Given the description of an element on the screen output the (x, y) to click on. 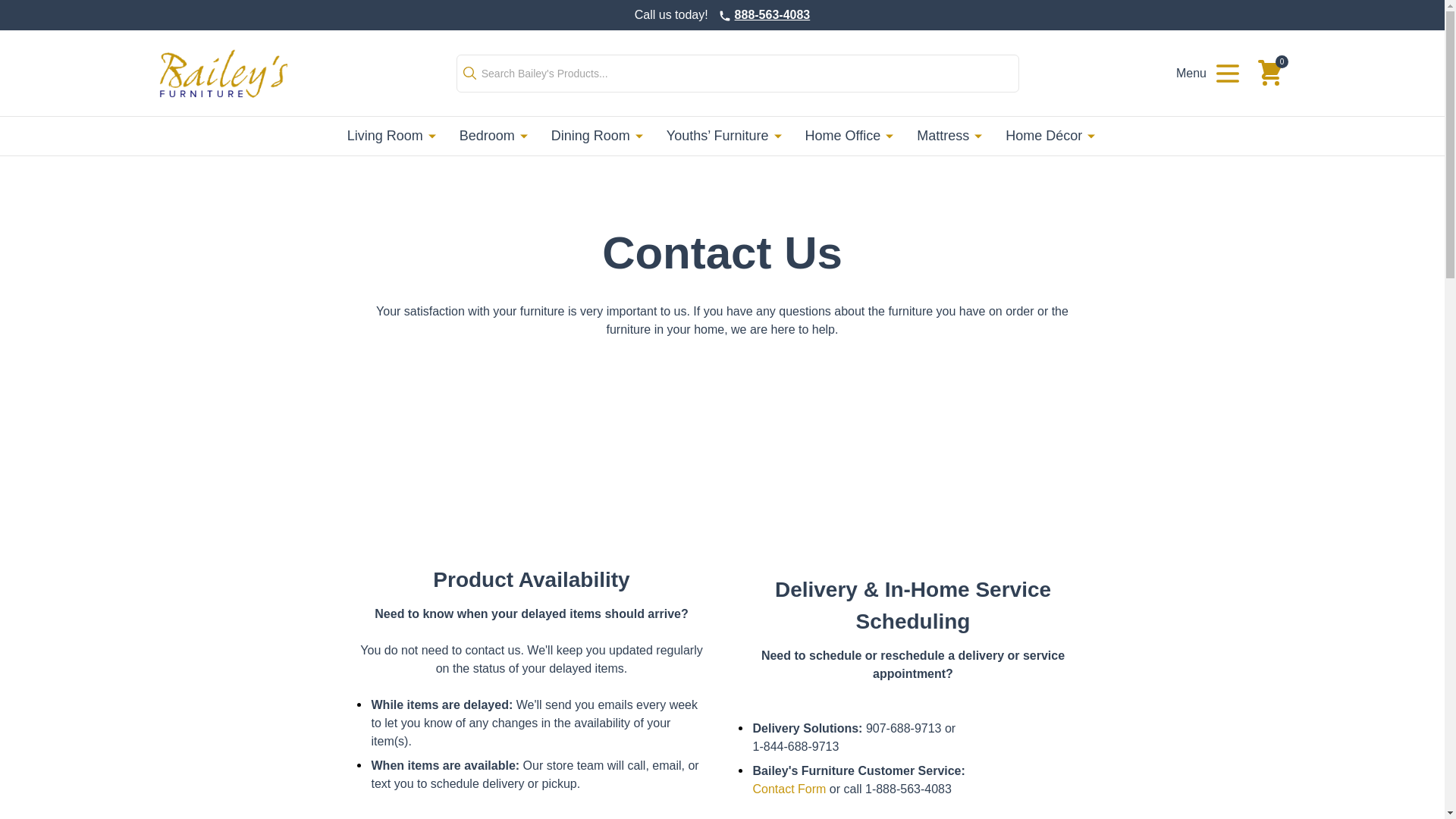
Living Room (395, 135)
Bedroom (489, 135)
888-563-4083 (772, 14)
Dining Room (592, 135)
